Given the description of an element on the screen output the (x, y) to click on. 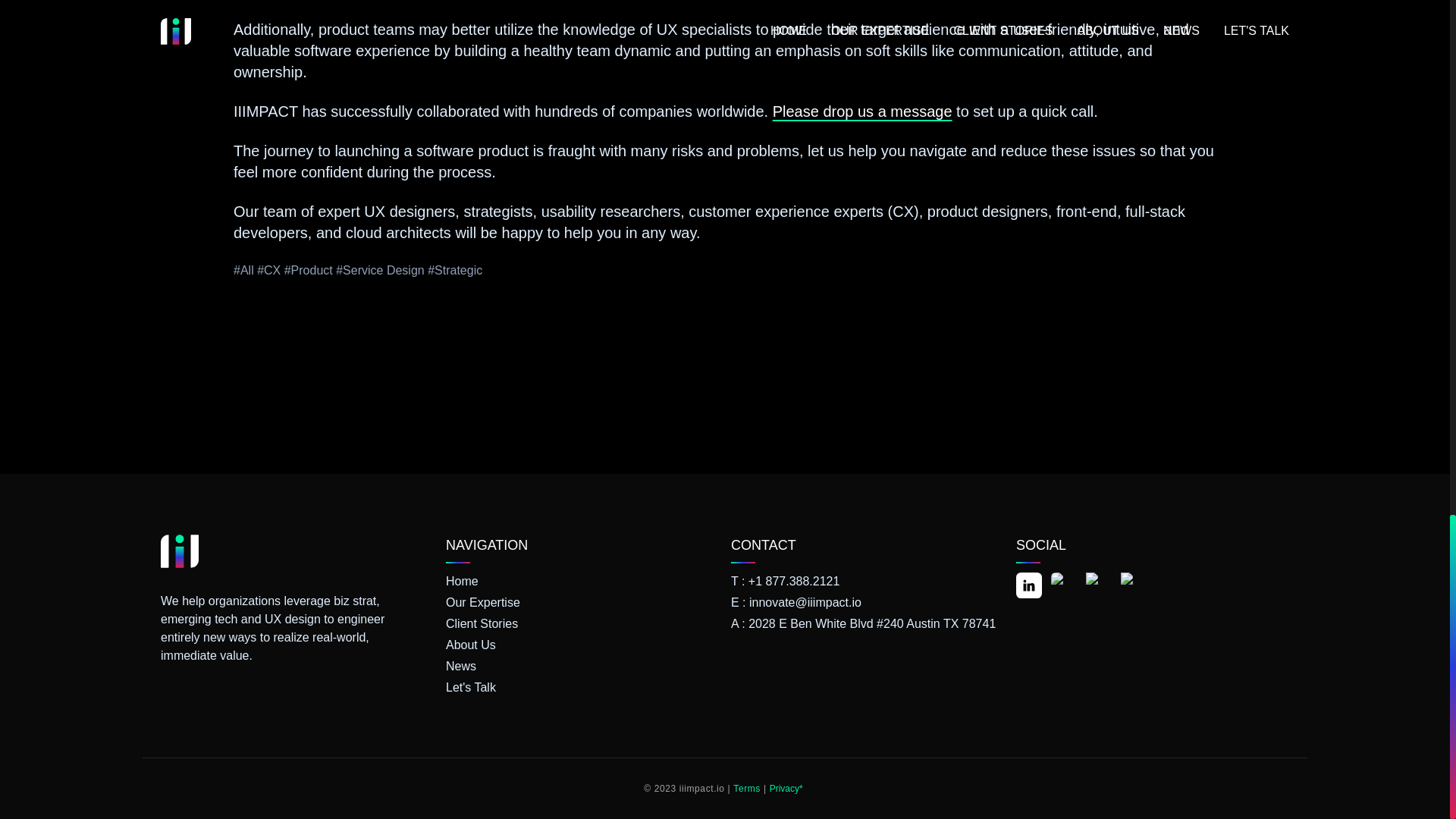
Client Stories (582, 624)
News (582, 666)
About Us (582, 645)
Home (582, 581)
Please drop us a message (862, 111)
Our Expertise (582, 602)
Let'S Talk (582, 687)
Terms (746, 788)
